Given the description of an element on the screen output the (x, y) to click on. 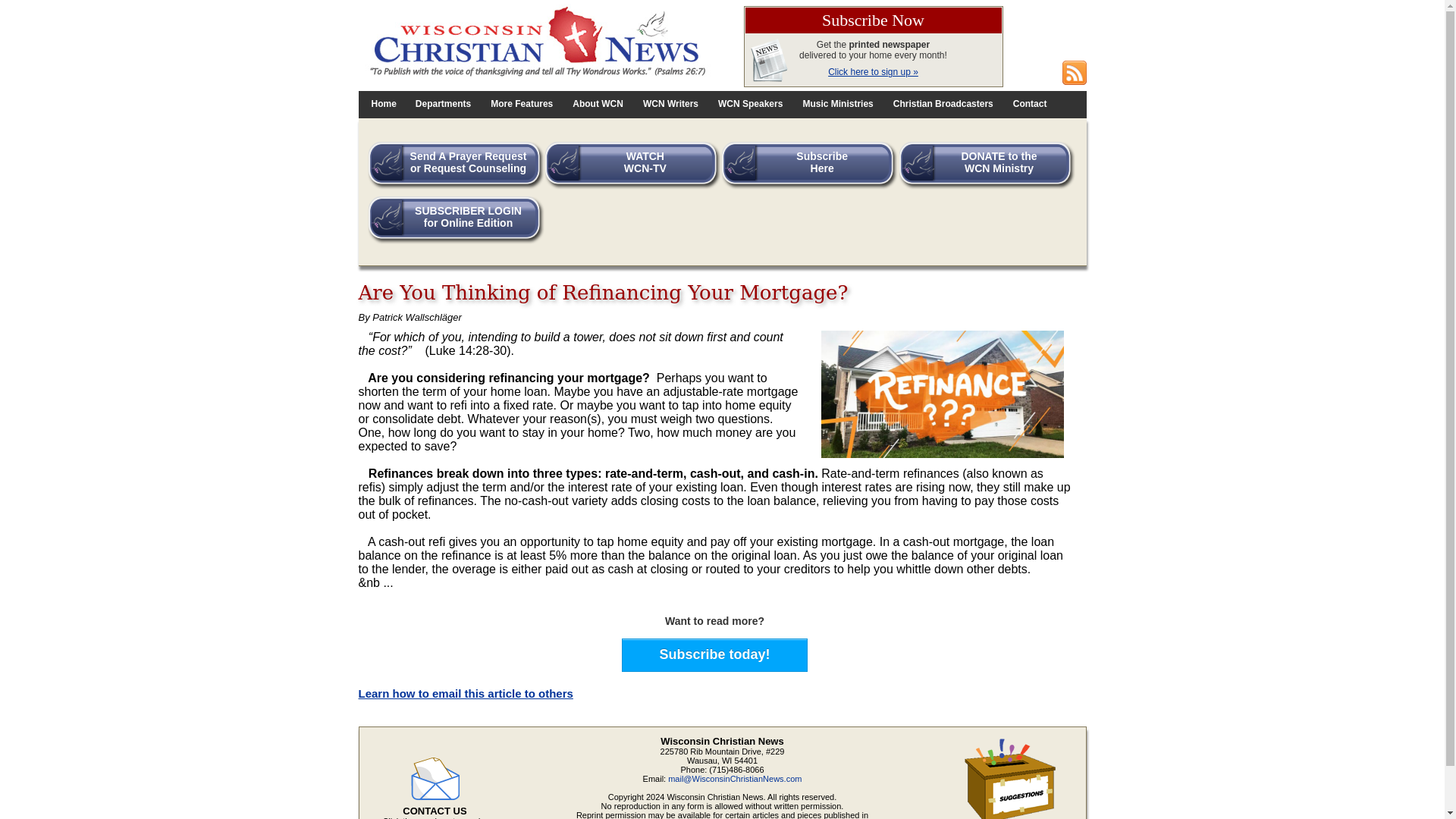
Page (1030, 104)
Departments (443, 104)
Departments (443, 104)
WCN Writers (670, 104)
Contact (1030, 104)
WCN Writers (670, 104)
Music Ministries (837, 104)
Home (384, 104)
About WCN (597, 104)
WCN Speakers (750, 104)
About WCN (637, 167)
Subscribe today! (597, 104)
More Features (713, 654)
